Given the description of an element on the screen output the (x, y) to click on. 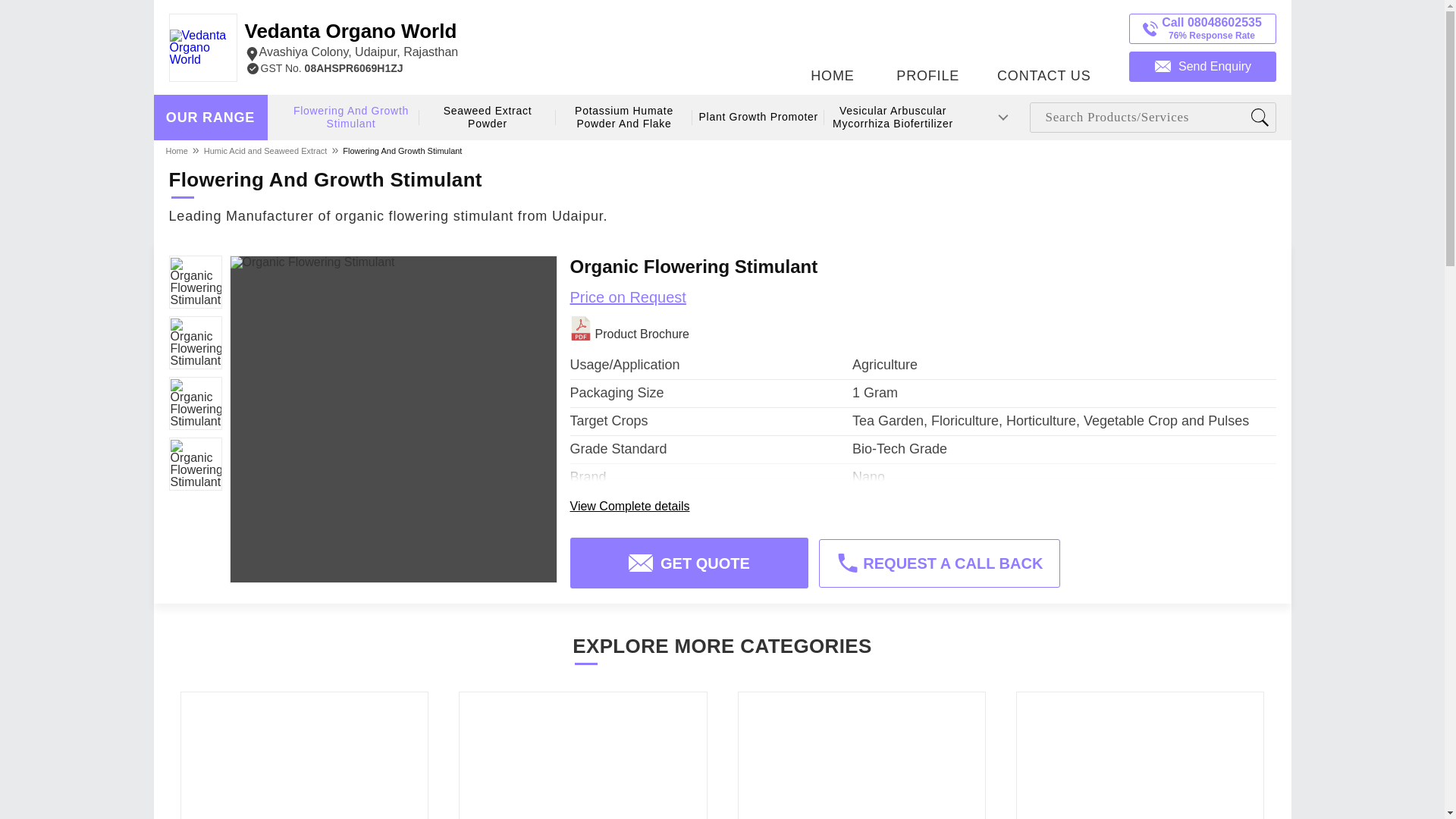
Flowering And Growth Stimulant (351, 117)
Home (176, 150)
HOME (351, 41)
Flowering And Growth Stimulant (832, 43)
Plant Growth Promoter (402, 150)
OUR RANGE (759, 117)
Vesicular Arbuscular Mycorrhiza Biofertilizer (209, 117)
PROFILE (892, 117)
Humic Acid and Seaweed Extract (927, 43)
Seaweed Extract Powder (265, 150)
CONTACT US (488, 117)
Potassium Humate Powder And Flake (1043, 43)
